Given the description of an element on the screen output the (x, y) to click on. 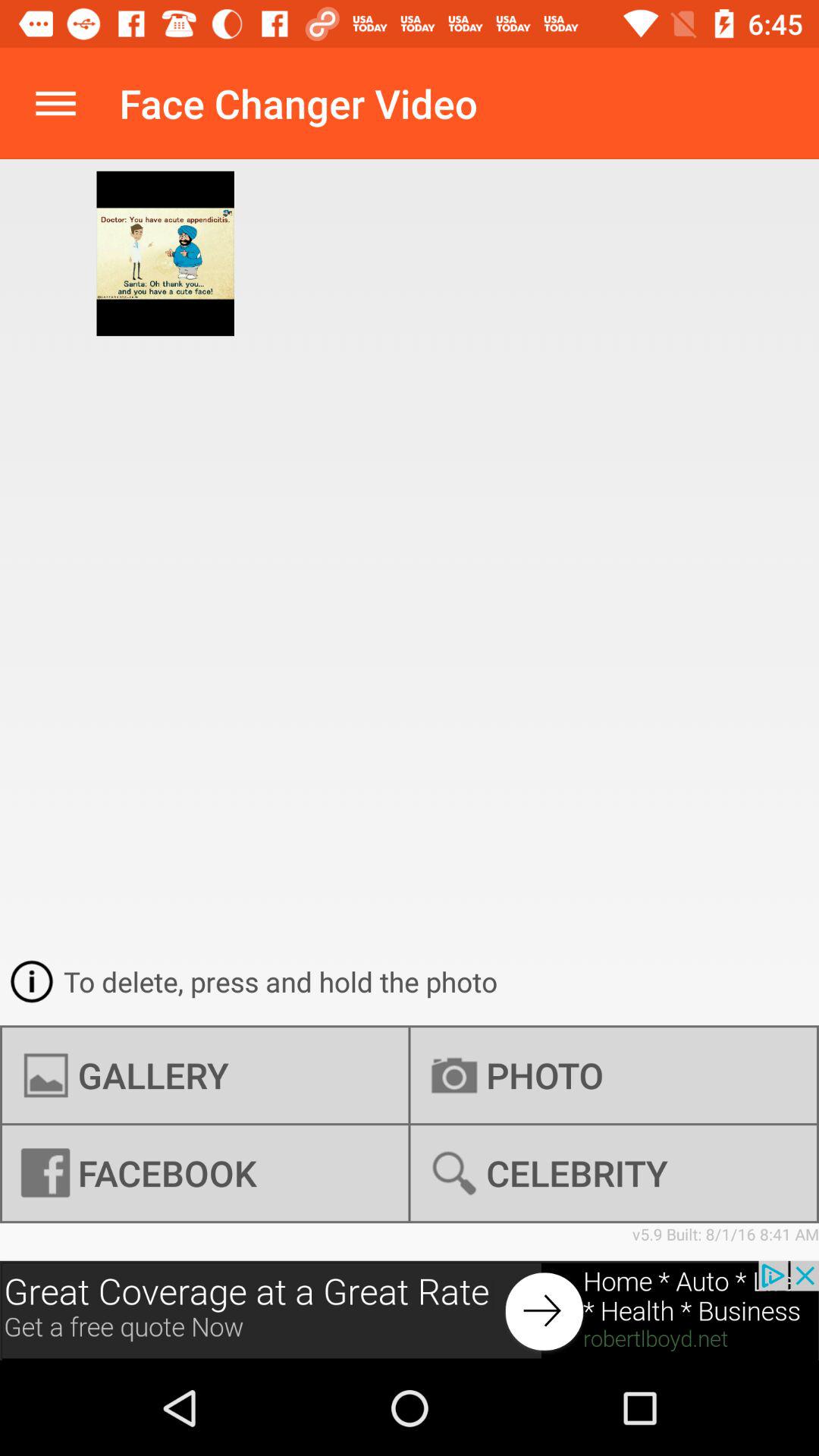
turn on the icon to the left of photo (205, 1075)
